Given the description of an element on the screen output the (x, y) to click on. 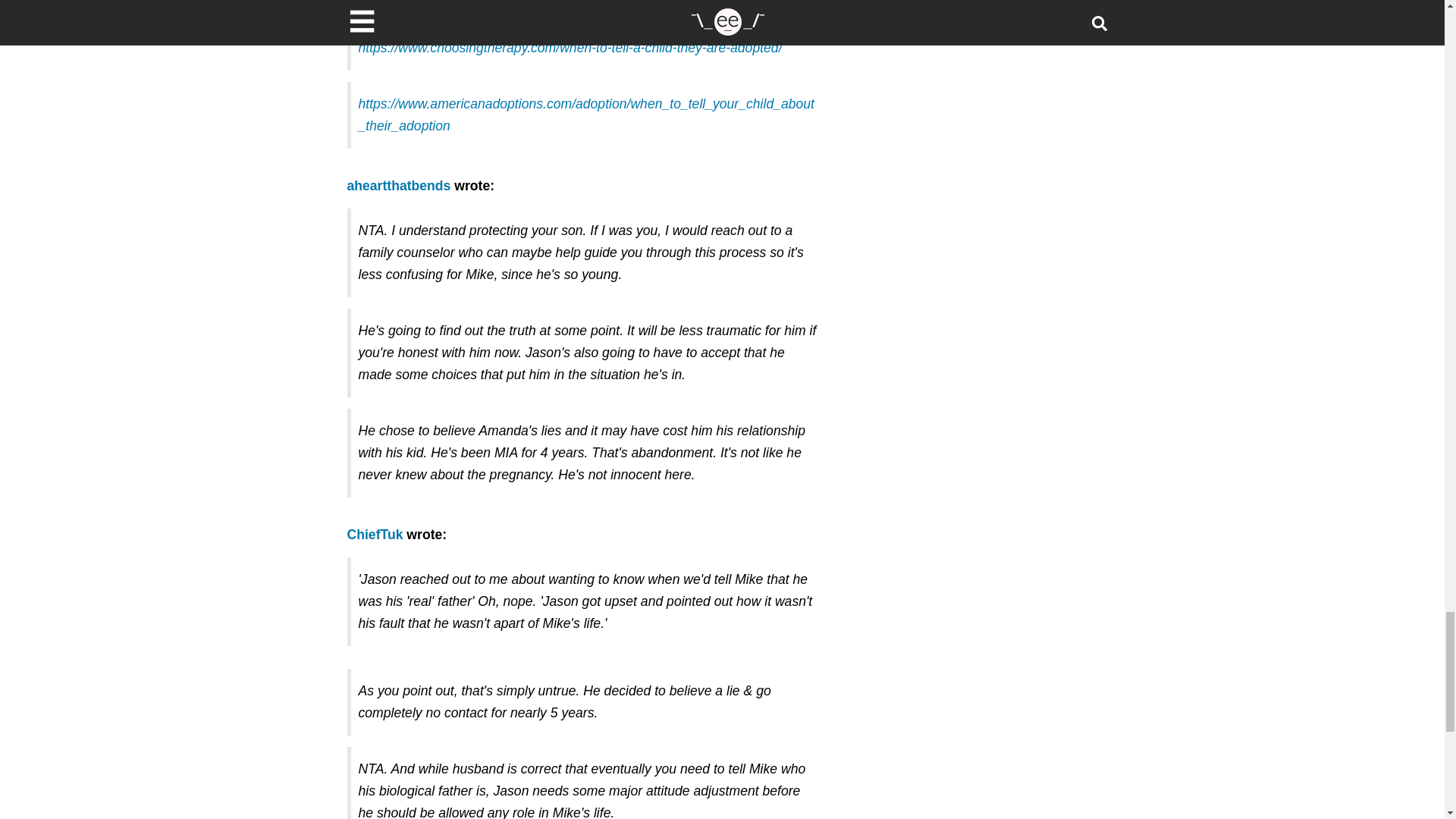
aheartthatbends (399, 185)
ChiefTuk (375, 534)
